Given the description of an element on the screen output the (x, y) to click on. 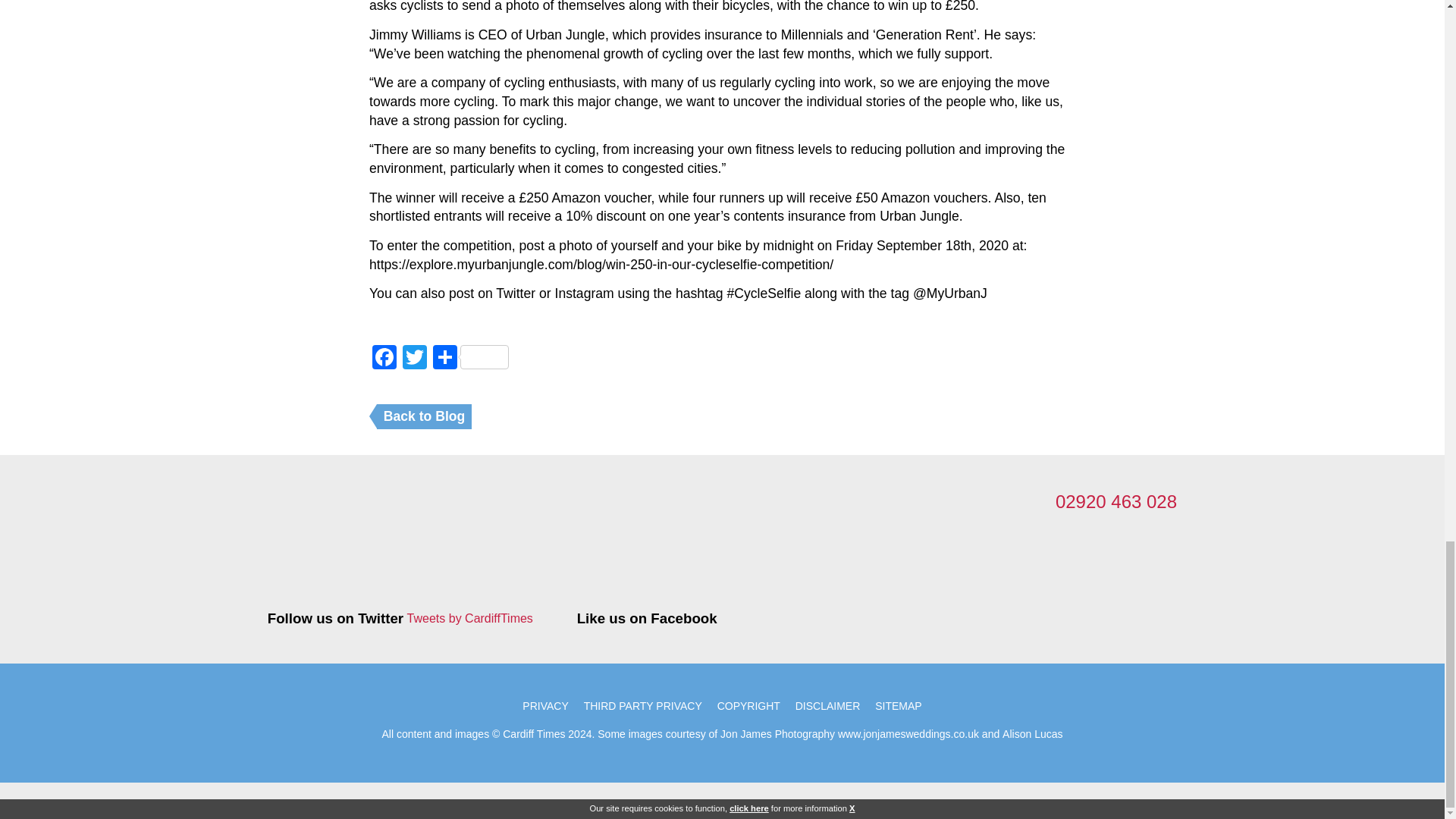
PRIVACY (544, 705)
Share (470, 358)
Facebook (383, 358)
Twitter (413, 358)
THIRD PARTY PRIVACY (642, 705)
Facebook (383, 358)
COPYRIGHT (748, 705)
Twitter (413, 358)
Tweets by CardiffTimes (469, 618)
02920 463 028 (1115, 501)
Back to Blog (424, 416)
DISCLAIMER (827, 705)
